Given the description of an element on the screen output the (x, y) to click on. 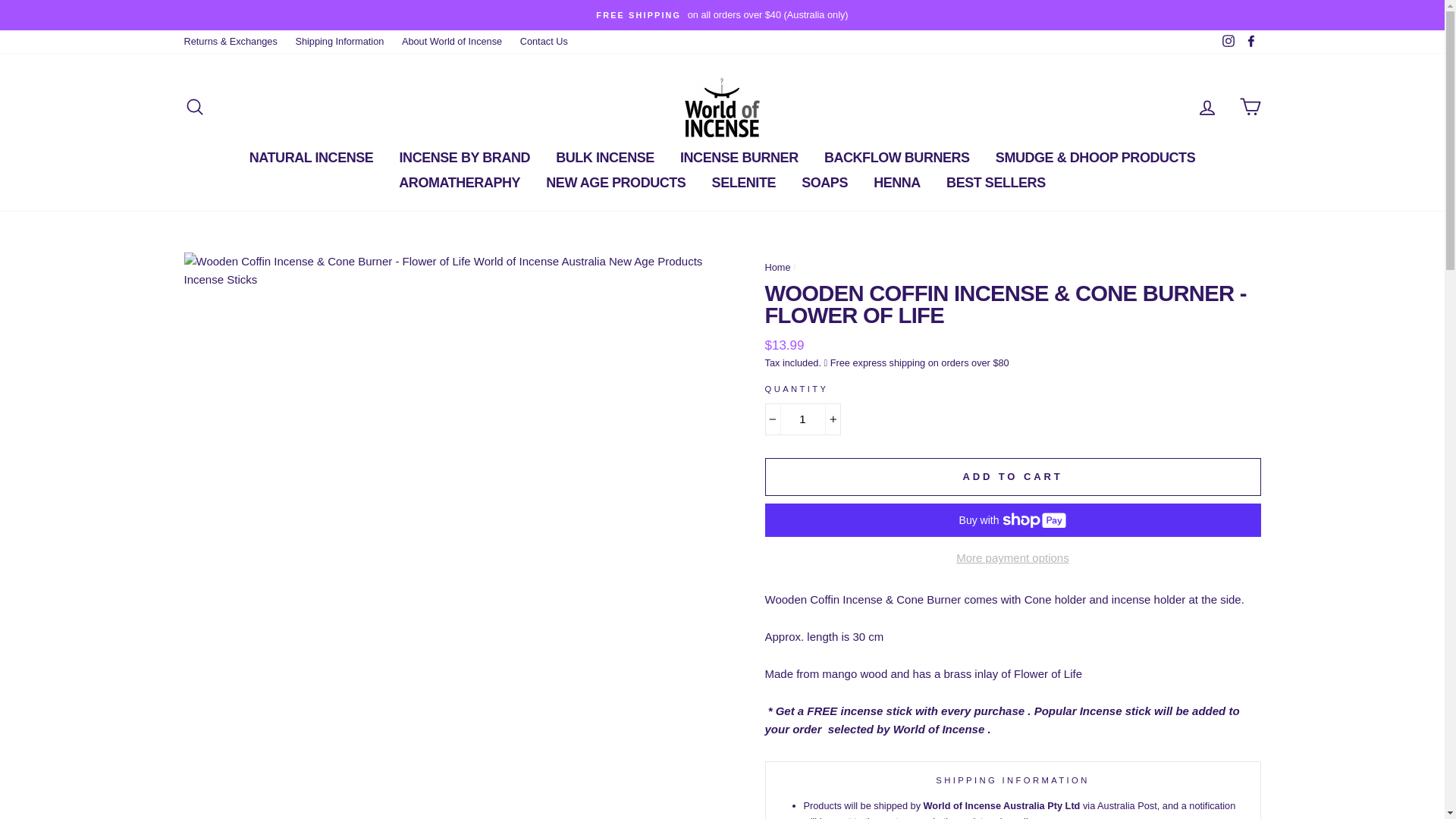
1 (802, 418)
Back to the frontpage (777, 266)
